Given the description of an element on the screen output the (x, y) to click on. 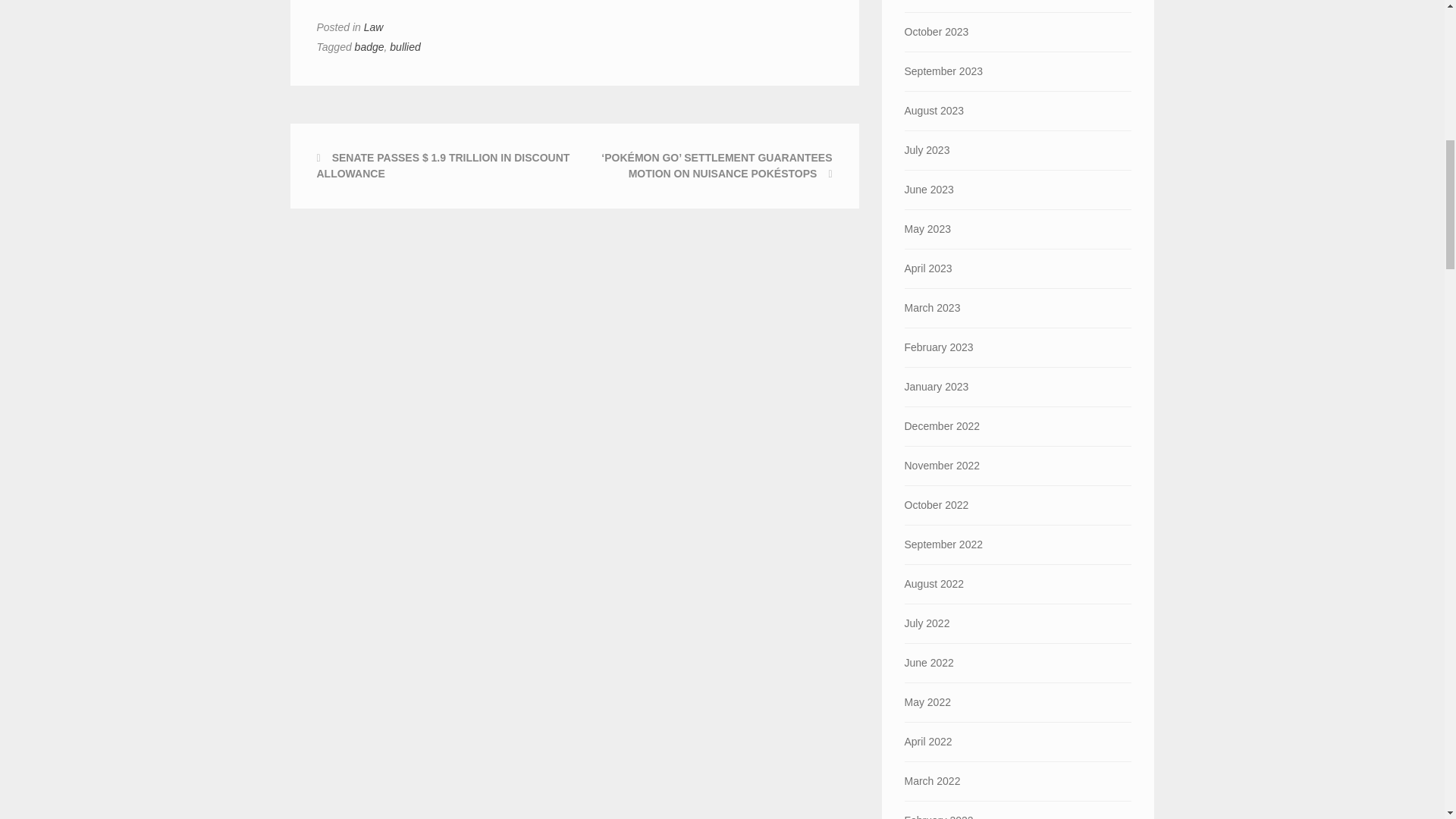
April 2023 (1017, 268)
Law (374, 27)
November 2023 (1017, 6)
June 2023 (1017, 189)
July 2023 (1017, 150)
May 2023 (1017, 228)
October 2023 (1017, 32)
bullied (405, 46)
March 2023 (1017, 308)
August 2023 (1017, 110)
September 2023 (1017, 71)
badge (369, 46)
